Given the description of an element on the screen output the (x, y) to click on. 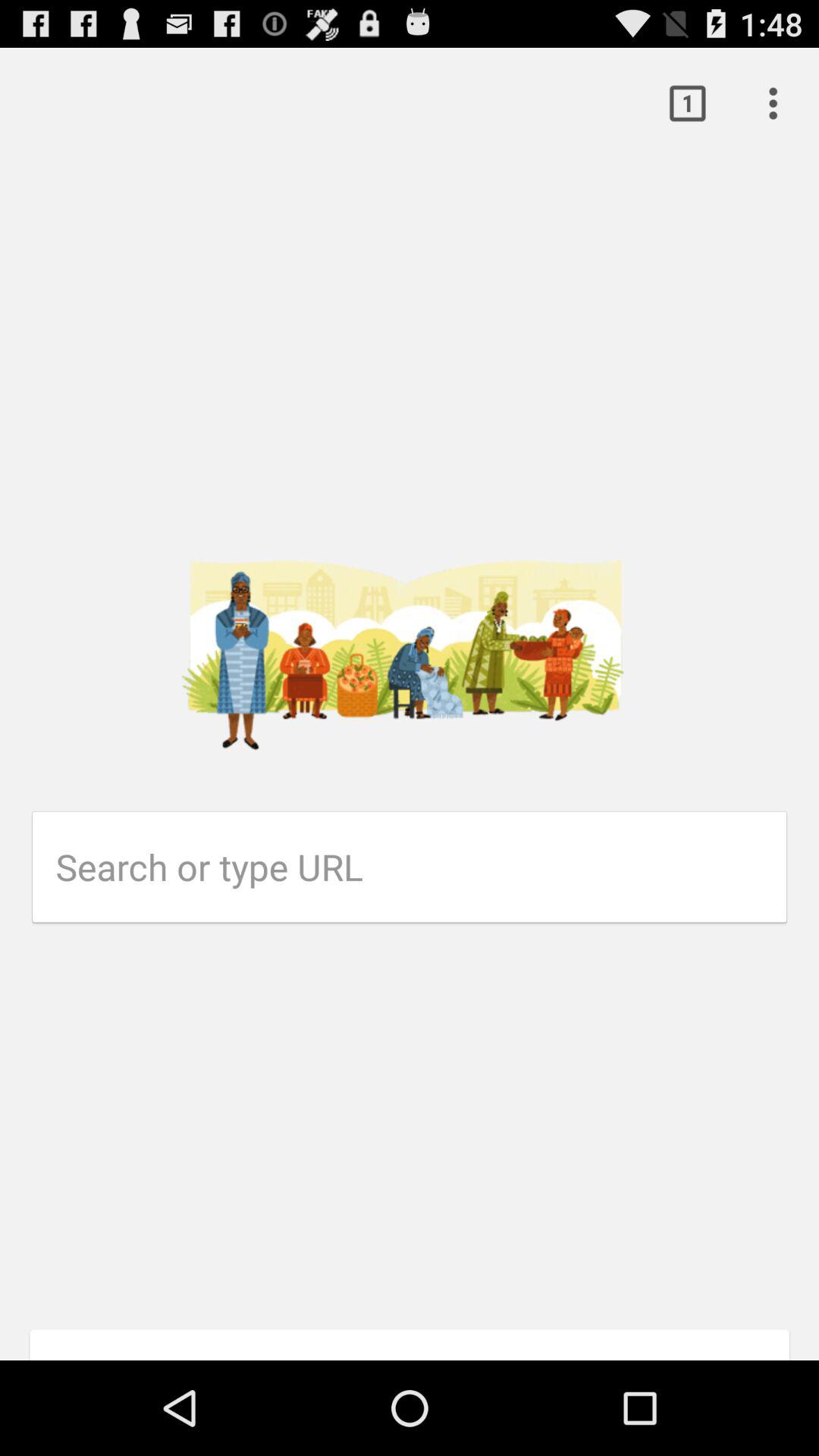
click to search option (421, 866)
